Given the description of an element on the screen output the (x, y) to click on. 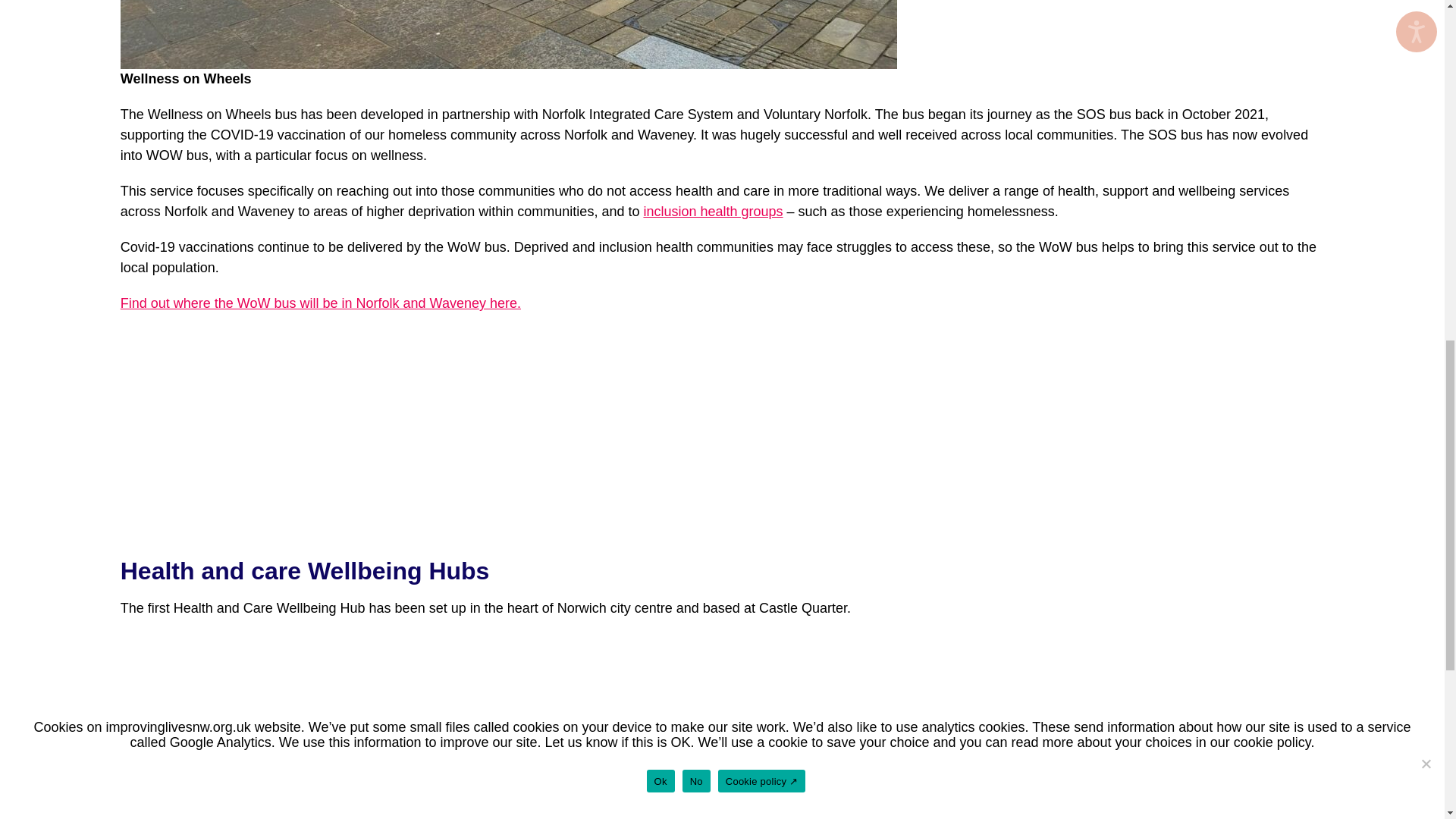
A tour of the WOW Bus - Wellness on Wheels (309, 435)
Wellness hub at Castle Quarter (309, 726)
